Given the description of an element on the screen output the (x, y) to click on. 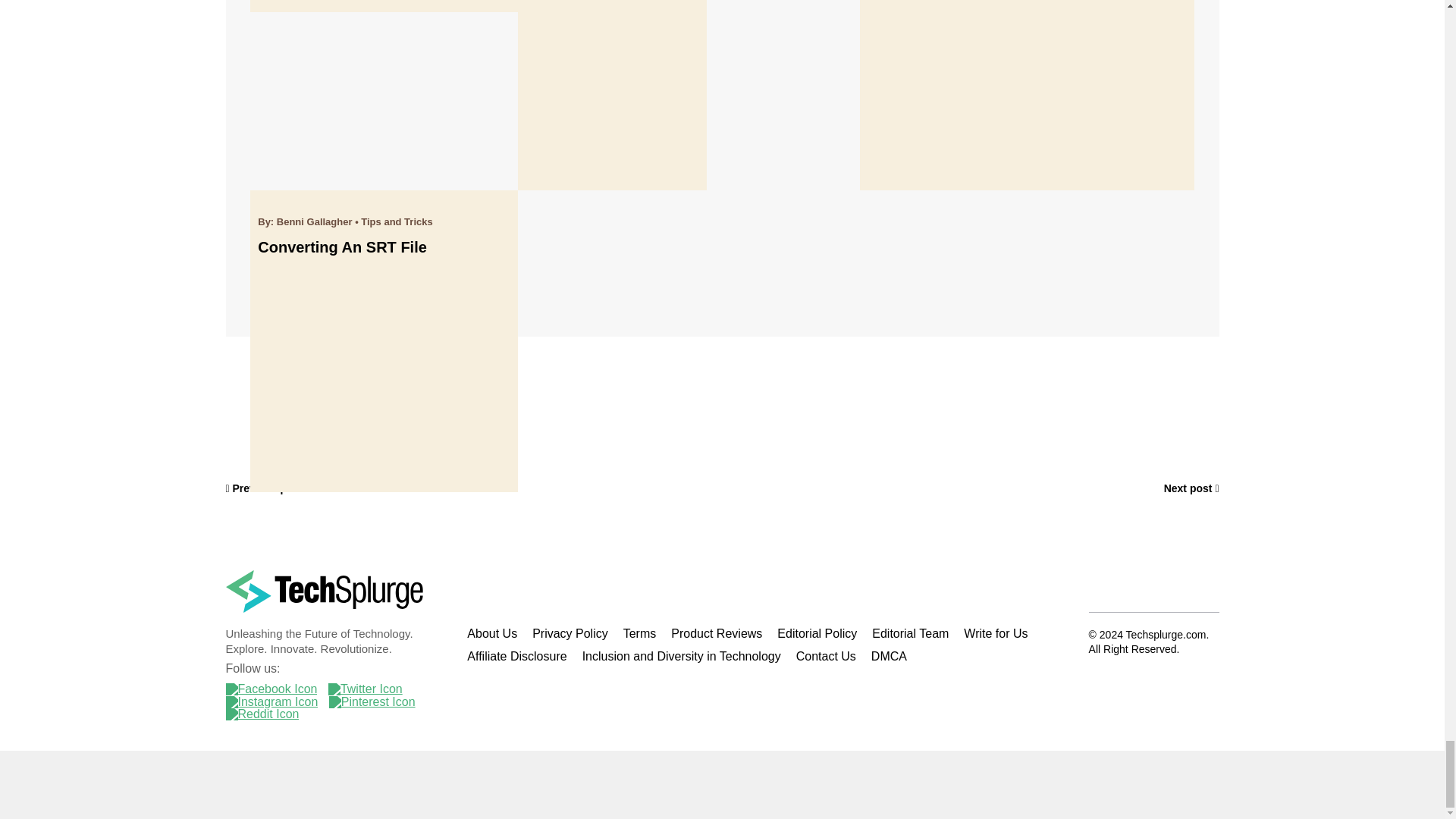
Techsplurge (324, 591)
